Given the description of an element on the screen output the (x, y) to click on. 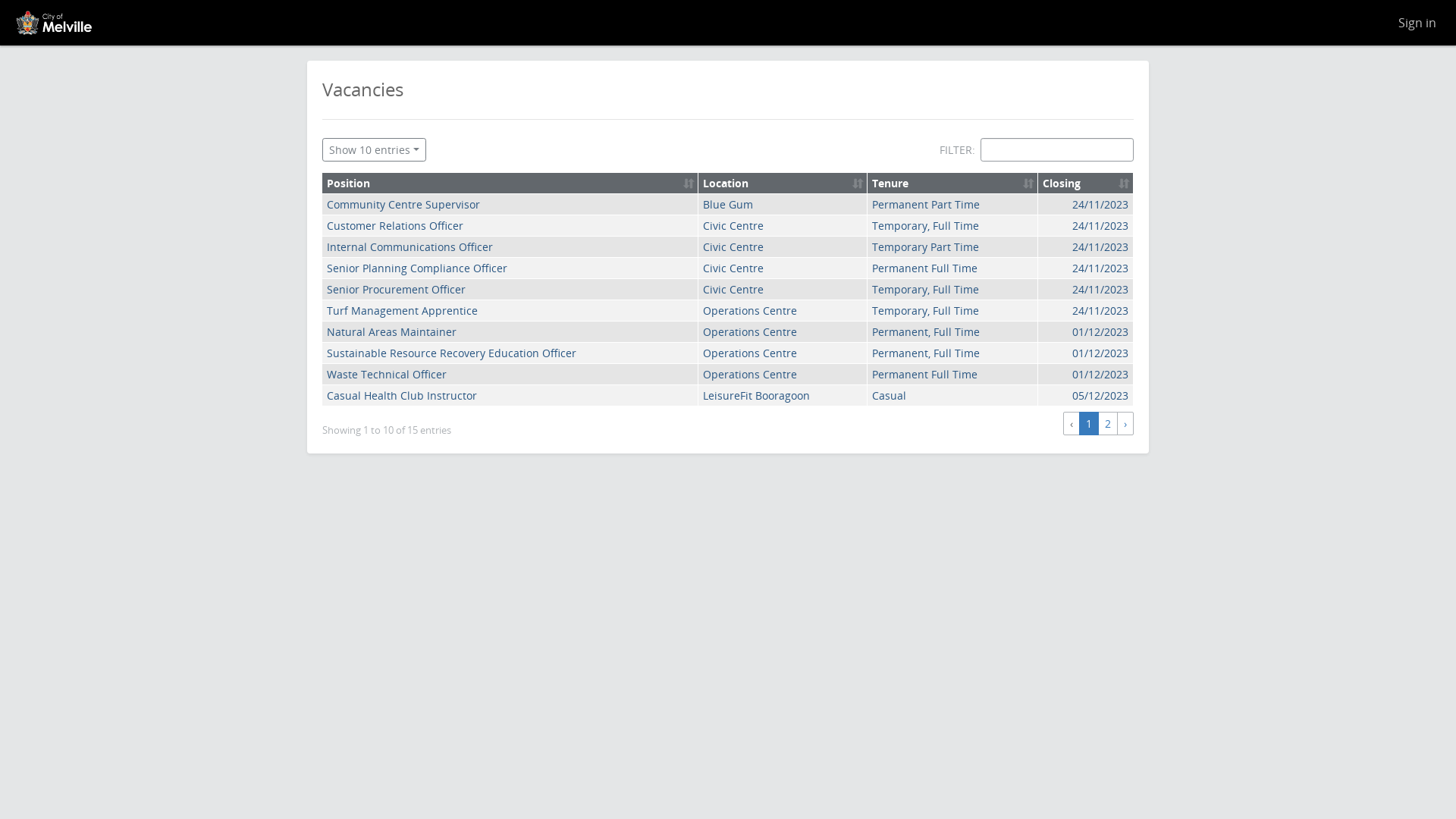
Sign in Element type: text (1417, 22)
Show 10 entries Element type: text (374, 149)
1 Element type: text (1088, 423)
2 Element type: text (1107, 423)
